Given the description of an element on the screen output the (x, y) to click on. 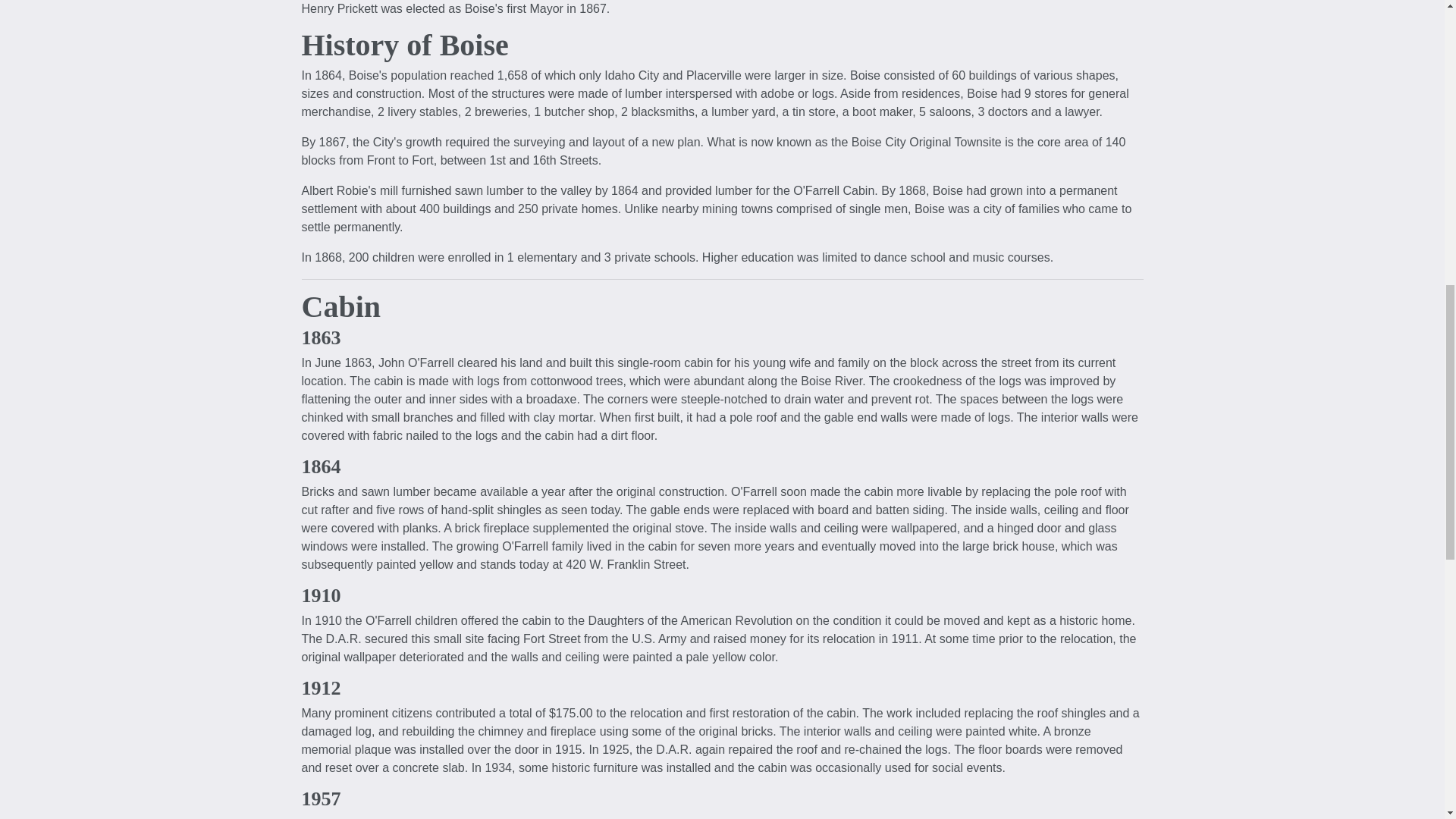
CLOSE (1388, 95)
